Given the description of an element on the screen output the (x, y) to click on. 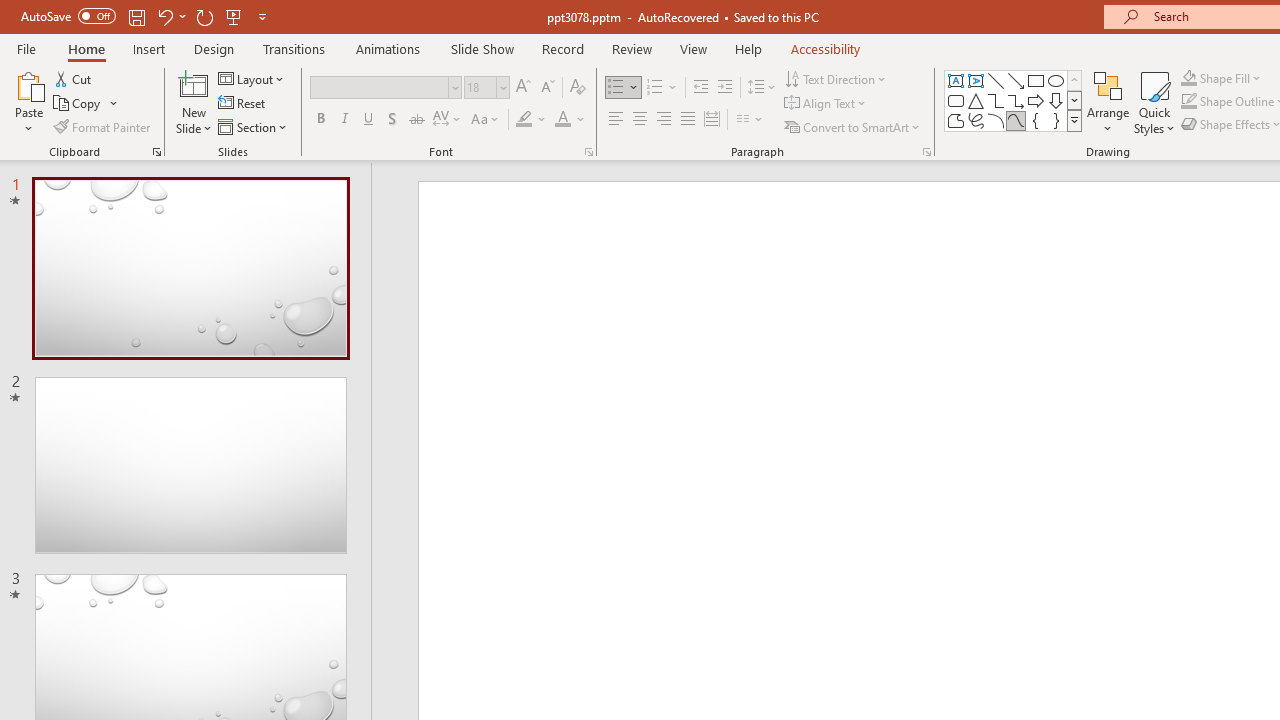
Italic (344, 119)
Font Color Red (562, 119)
Connector: Elbow Arrow (1016, 100)
Strikethrough (416, 119)
New Slide (193, 102)
Line Spacing (762, 87)
Isosceles Triangle (975, 100)
Font (385, 87)
Justify (687, 119)
Character Spacing (447, 119)
